Given the description of an element on the screen output the (x, y) to click on. 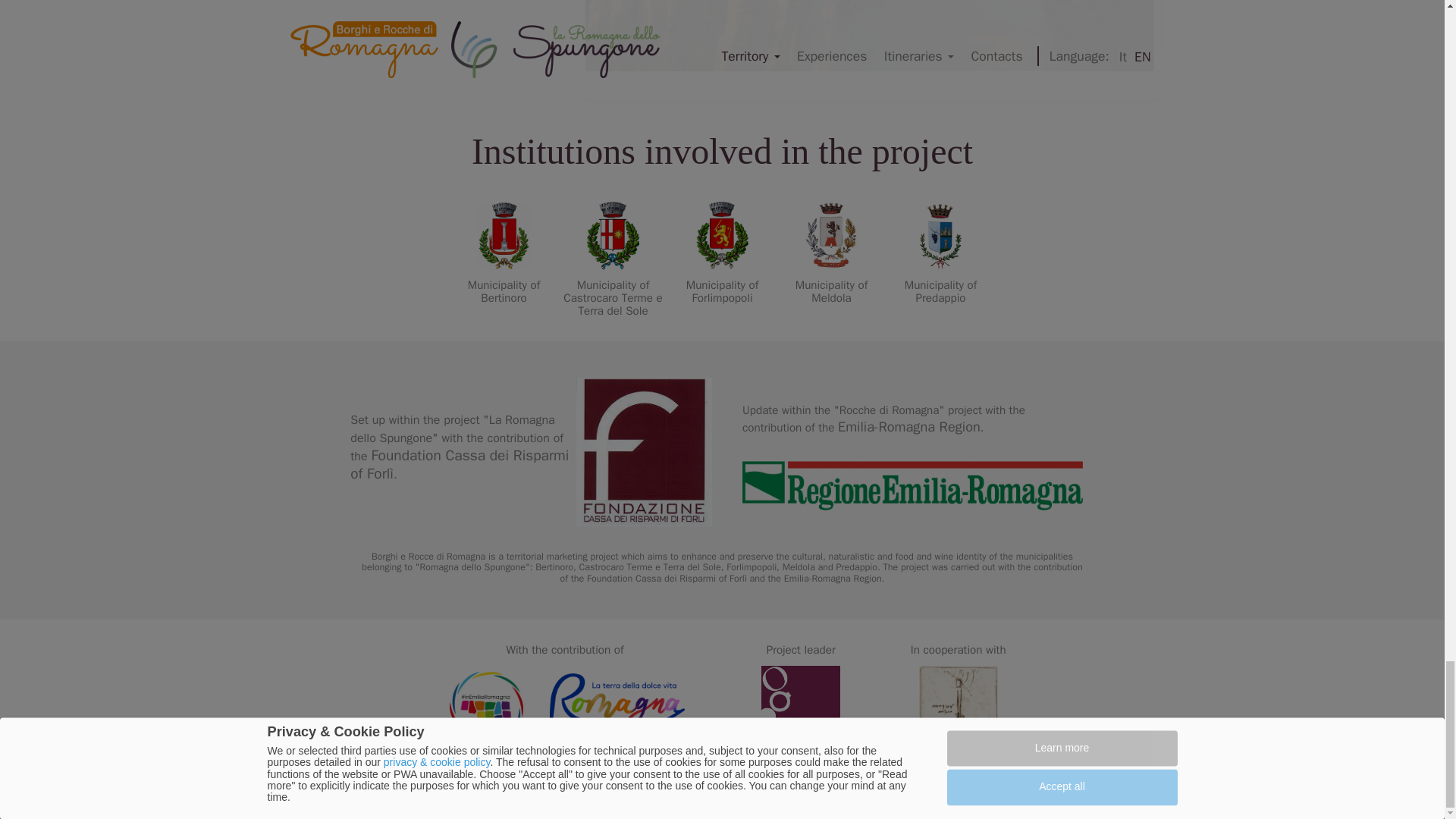
Credits (721, 252)
Terms of Service (939, 252)
